Given the description of an element on the screen output the (x, y) to click on. 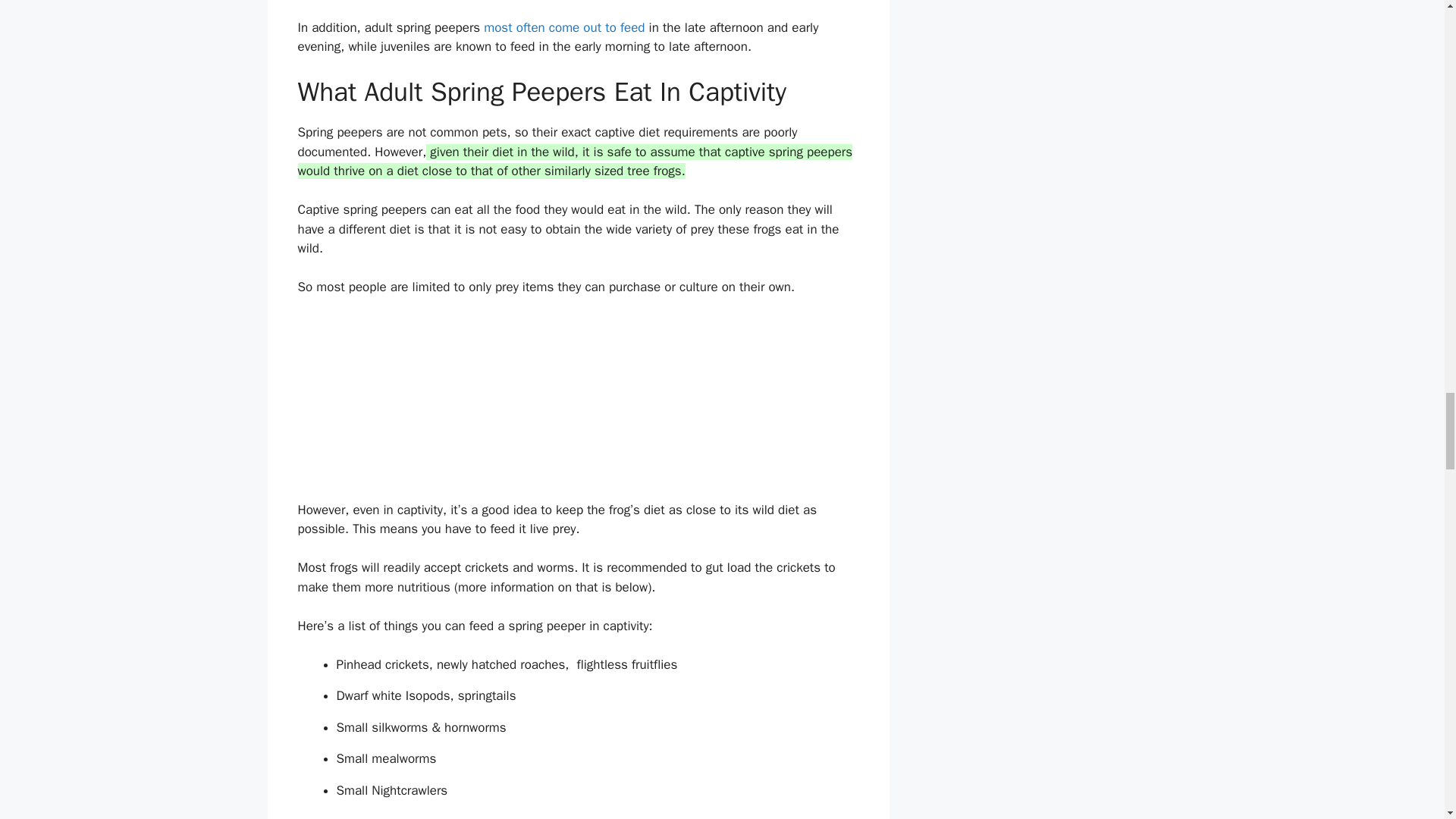
most often come out to feed (564, 27)
